Given the description of an element on the screen output the (x, y) to click on. 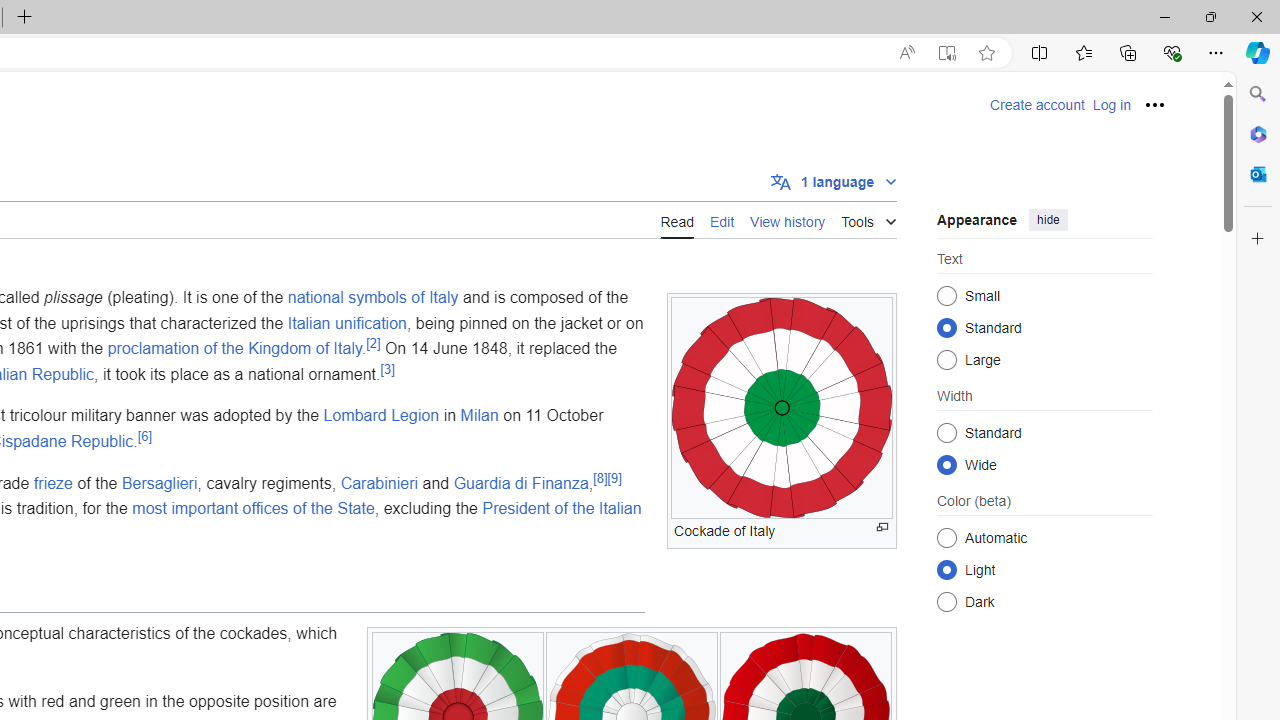
[2] (373, 342)
Large (946, 359)
Favorites (1083, 52)
Class: mw-file-element (781, 407)
[3] (387, 368)
Italian unification (346, 322)
Customize (1258, 239)
View history (787, 219)
Light (946, 569)
Edit (721, 219)
Log in (1111, 105)
